Given the description of an element on the screen output the (x, y) to click on. 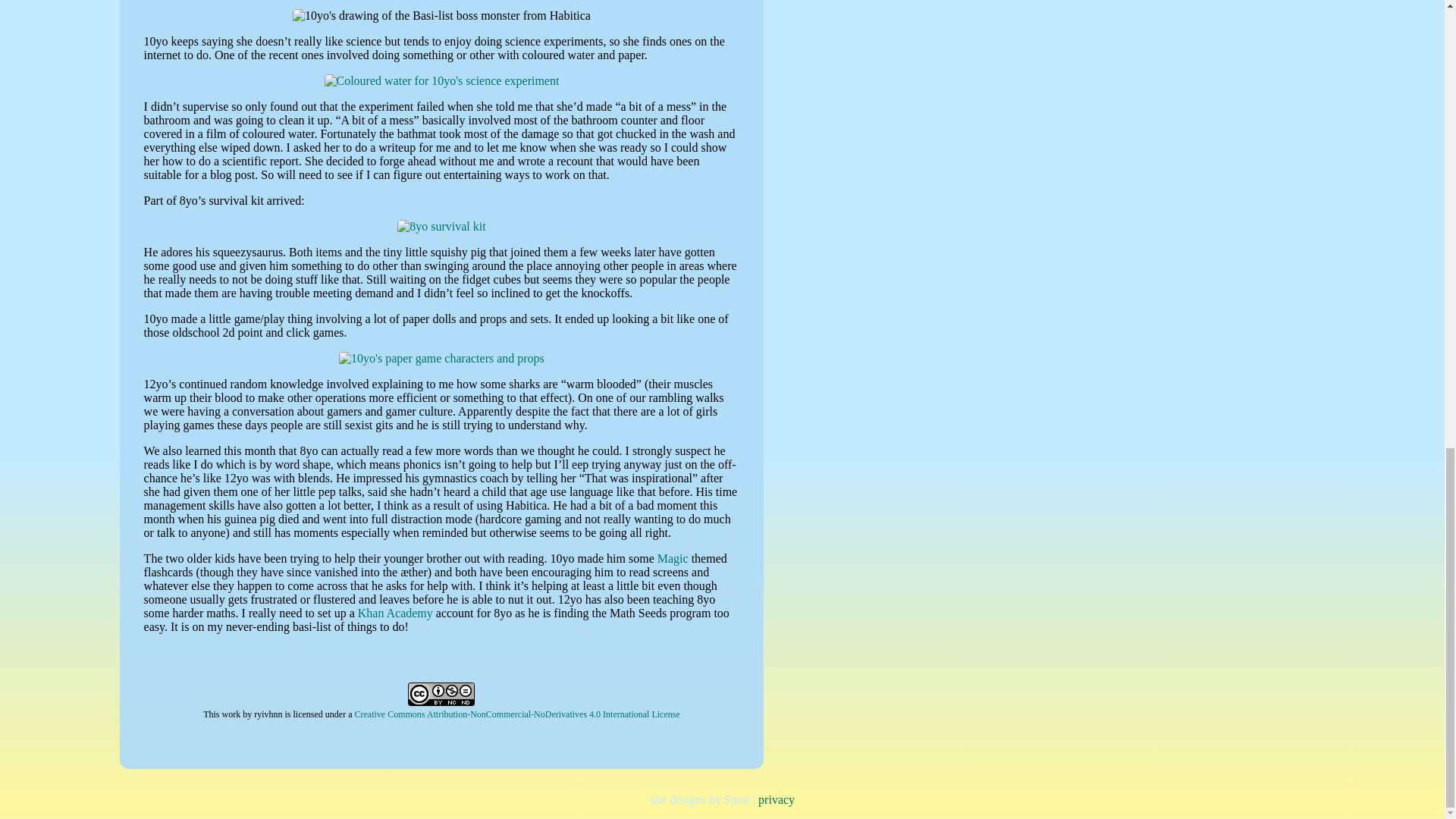
Magic (673, 558)
privacy (776, 799)
Khan Academy (395, 612)
